Given the description of an element on the screen output the (x, y) to click on. 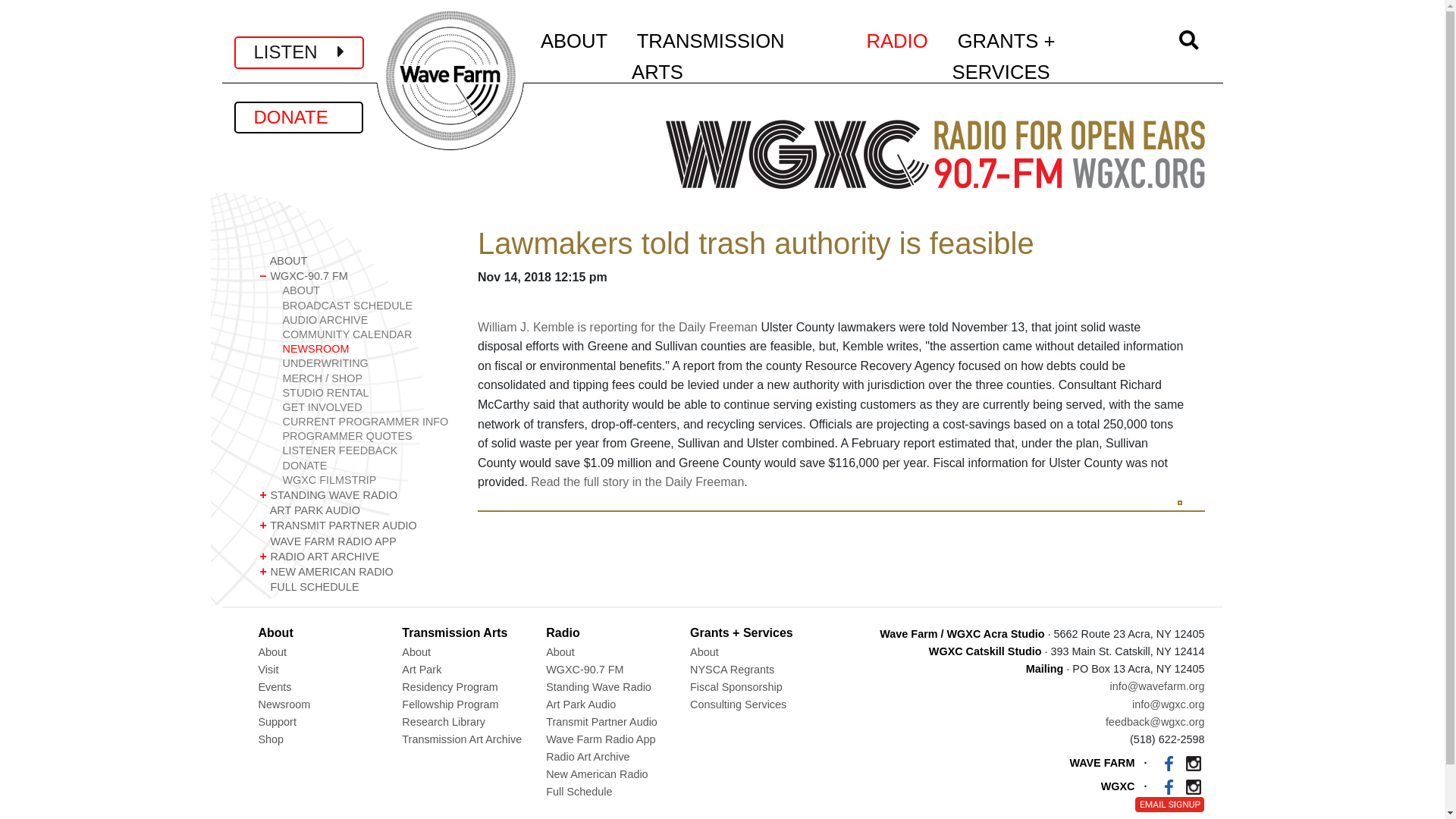
  ABOUT (355, 260)
BROADCAST SCHEDULE (367, 305)
ABOUT (367, 290)
DONATE    (297, 117)
LISTEN     (298, 51)
